Given the description of an element on the screen output the (x, y) to click on. 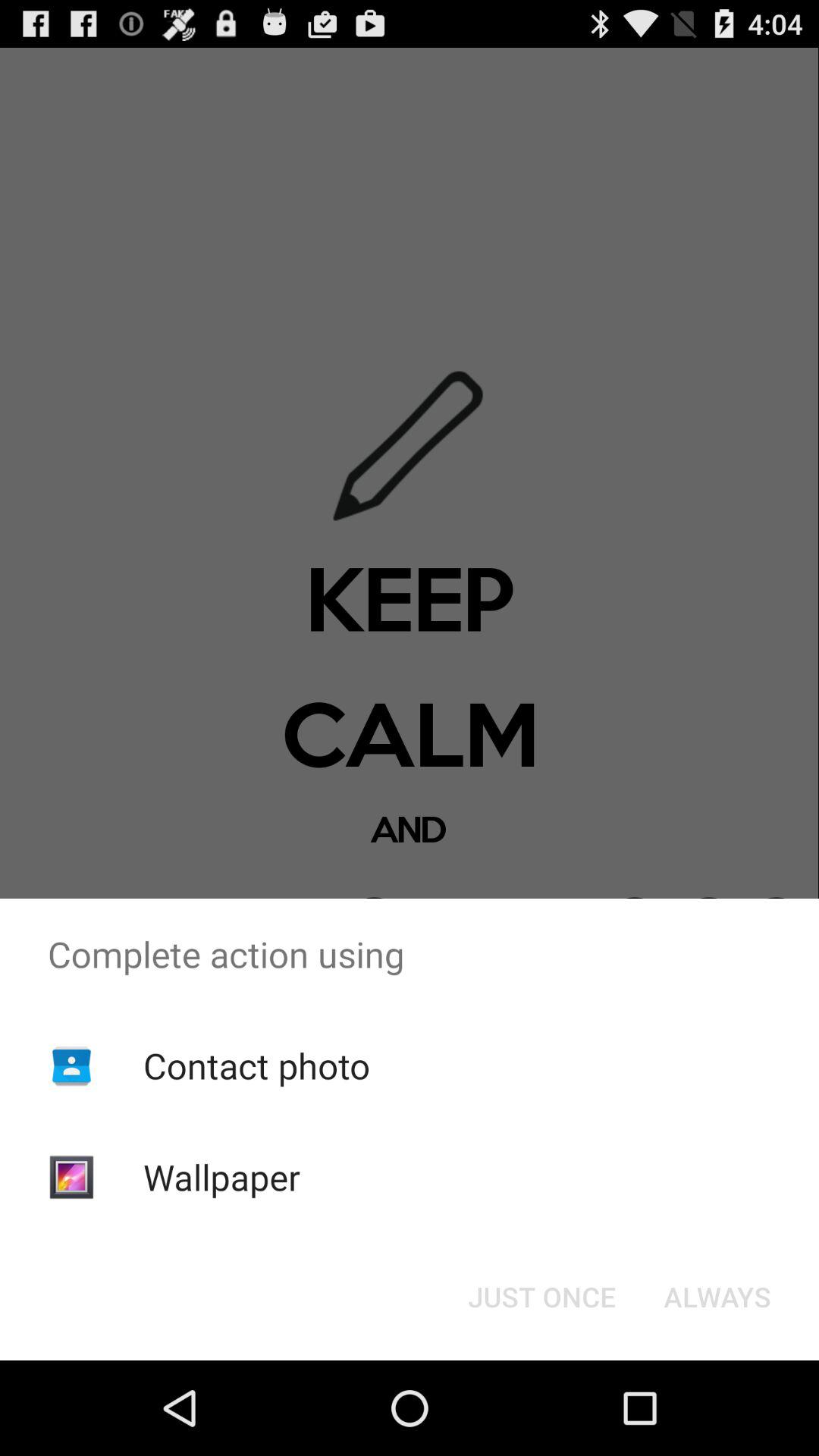
turn off icon below the complete action using item (256, 1065)
